Given the description of an element on the screen output the (x, y) to click on. 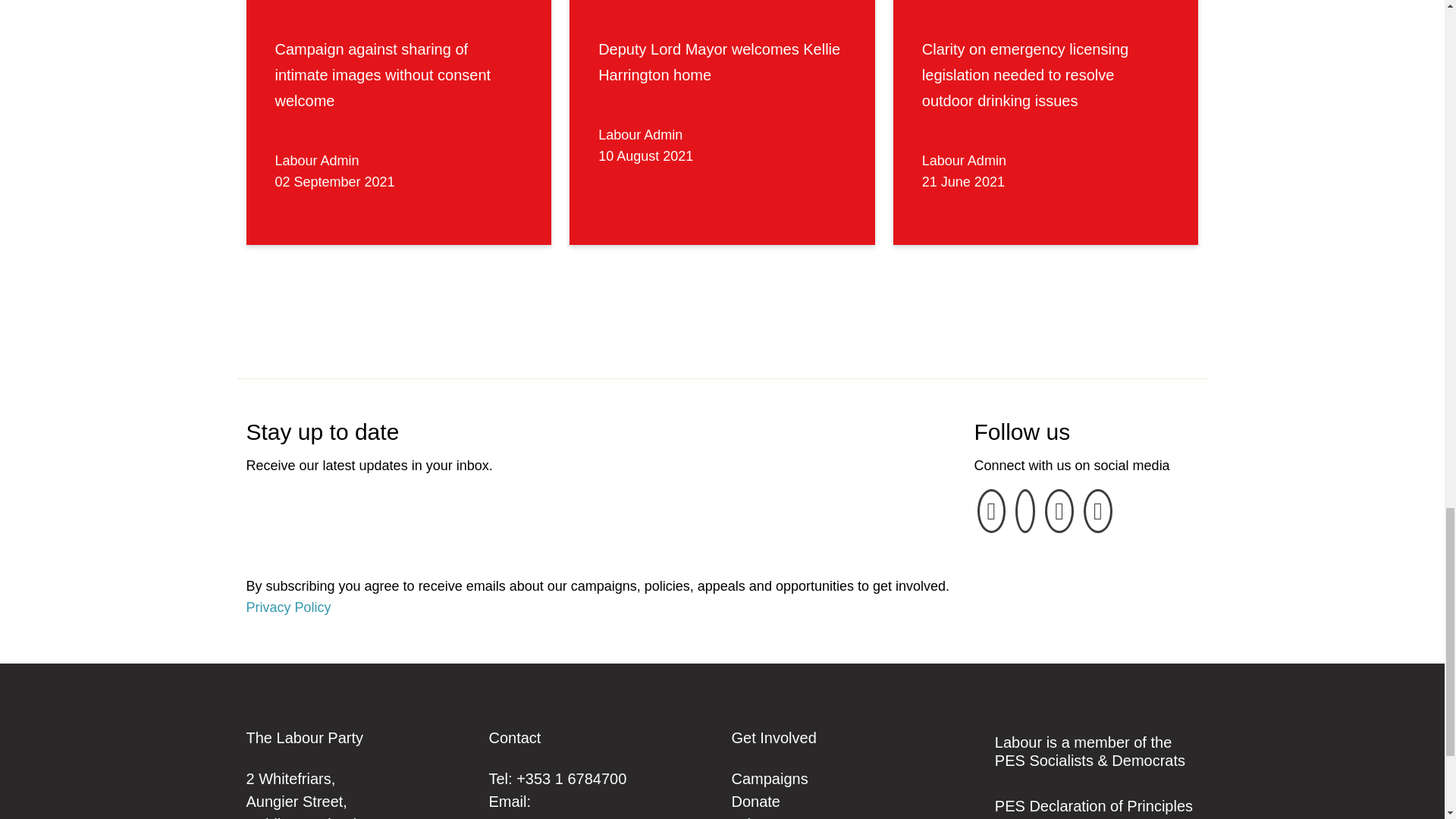
Privacy Policy (288, 607)
PES Declaration of Principles (1093, 805)
Join (744, 817)
Donate (755, 801)
Deputy Lord Mayor welcomes Kellie Harrington home (719, 61)
Campaigns (769, 778)
